Given the description of an element on the screen output the (x, y) to click on. 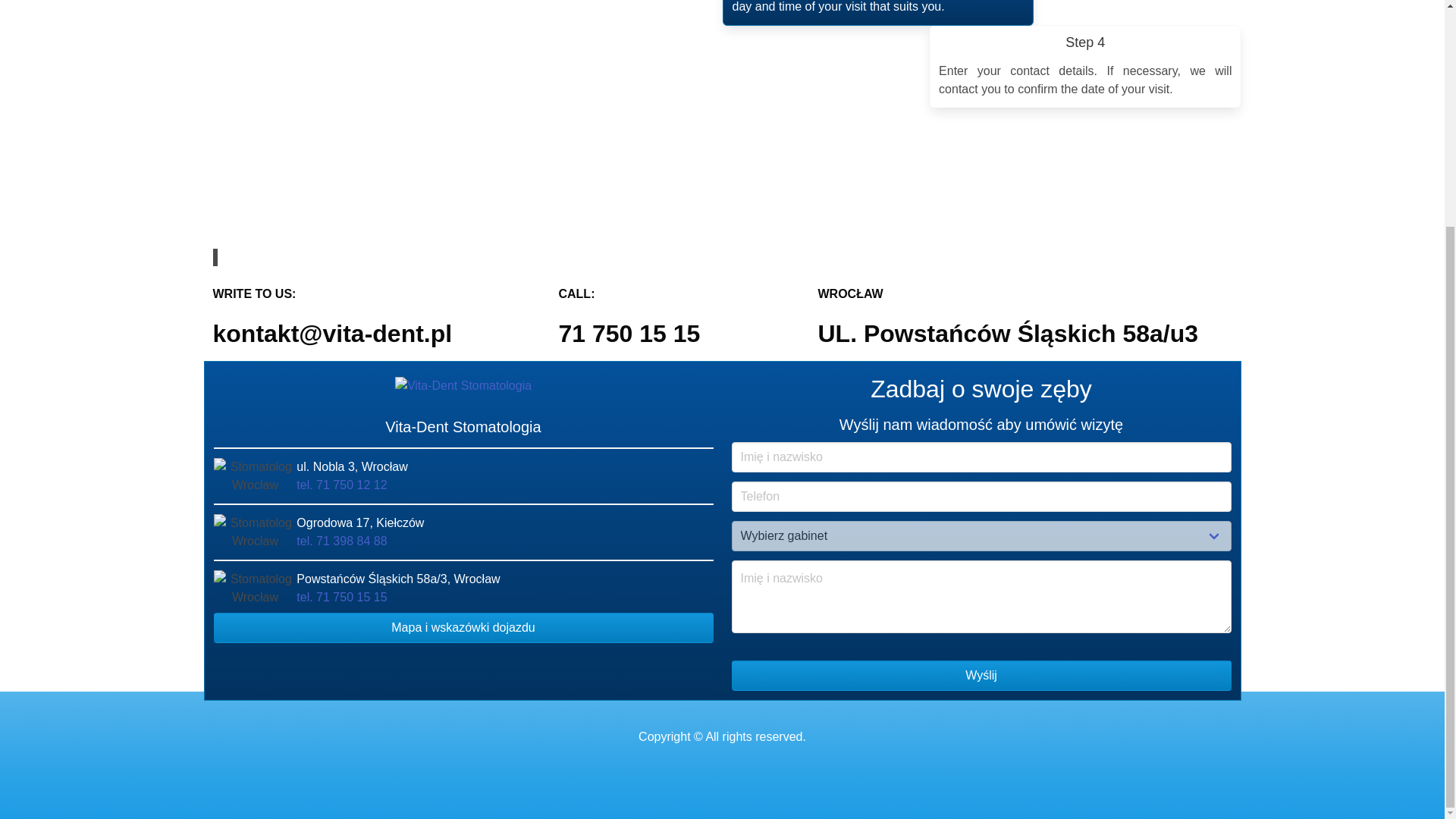
tel. 71 398 84 88 (342, 540)
tel. 71 750 15 15 (342, 596)
71 750 15 15 (628, 333)
tel. 71 750 12 12 (342, 484)
